Given the description of an element on the screen output the (x, y) to click on. 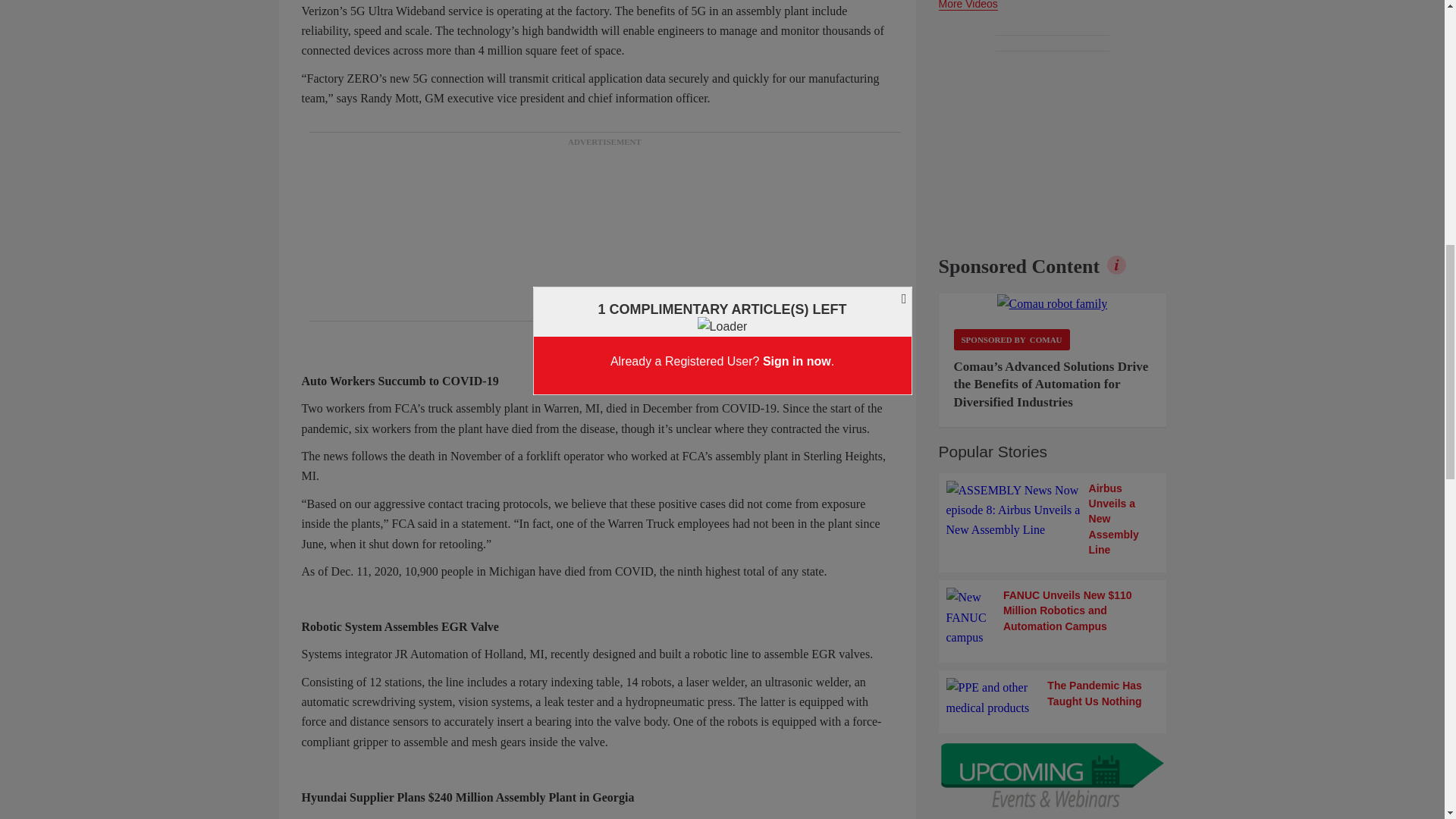
Airbus Unveils a New Assembly Line (1052, 518)
Sponsored by Comau (1011, 339)
Comau robot family (1052, 303)
The Pandemic Has Taught Us Nothing (1052, 698)
